Given the description of an element on the screen output the (x, y) to click on. 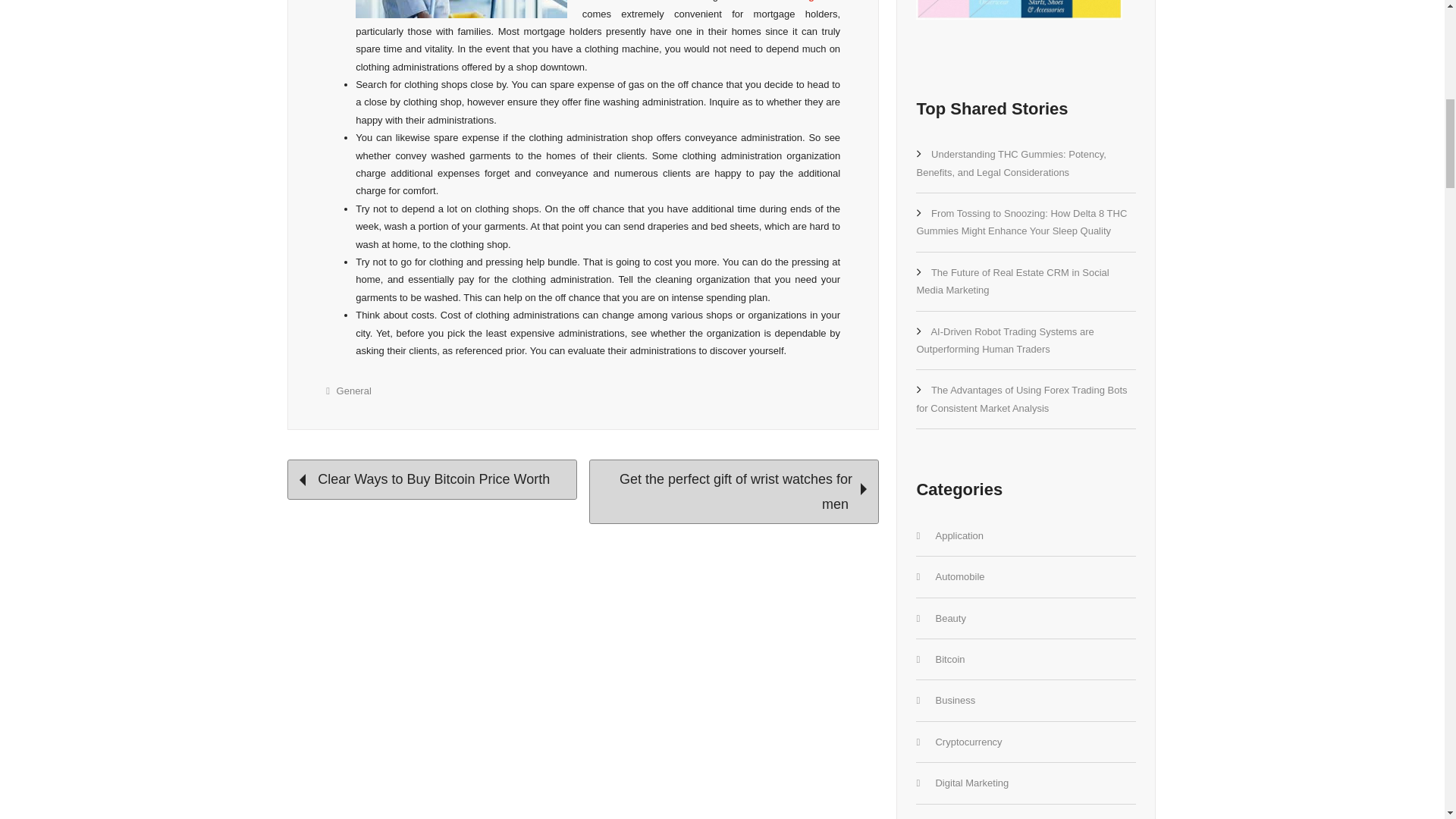
Digital Marketing (971, 782)
General (353, 390)
Automobile (959, 576)
Bitcoin (948, 659)
Beauty (949, 618)
Cryptocurrency (967, 741)
giat ui (824, 0)
Business (954, 699)
Application (959, 535)
The Future of Real Estate CRM in Social Media Marketing (1011, 280)
